Given the description of an element on the screen output the (x, y) to click on. 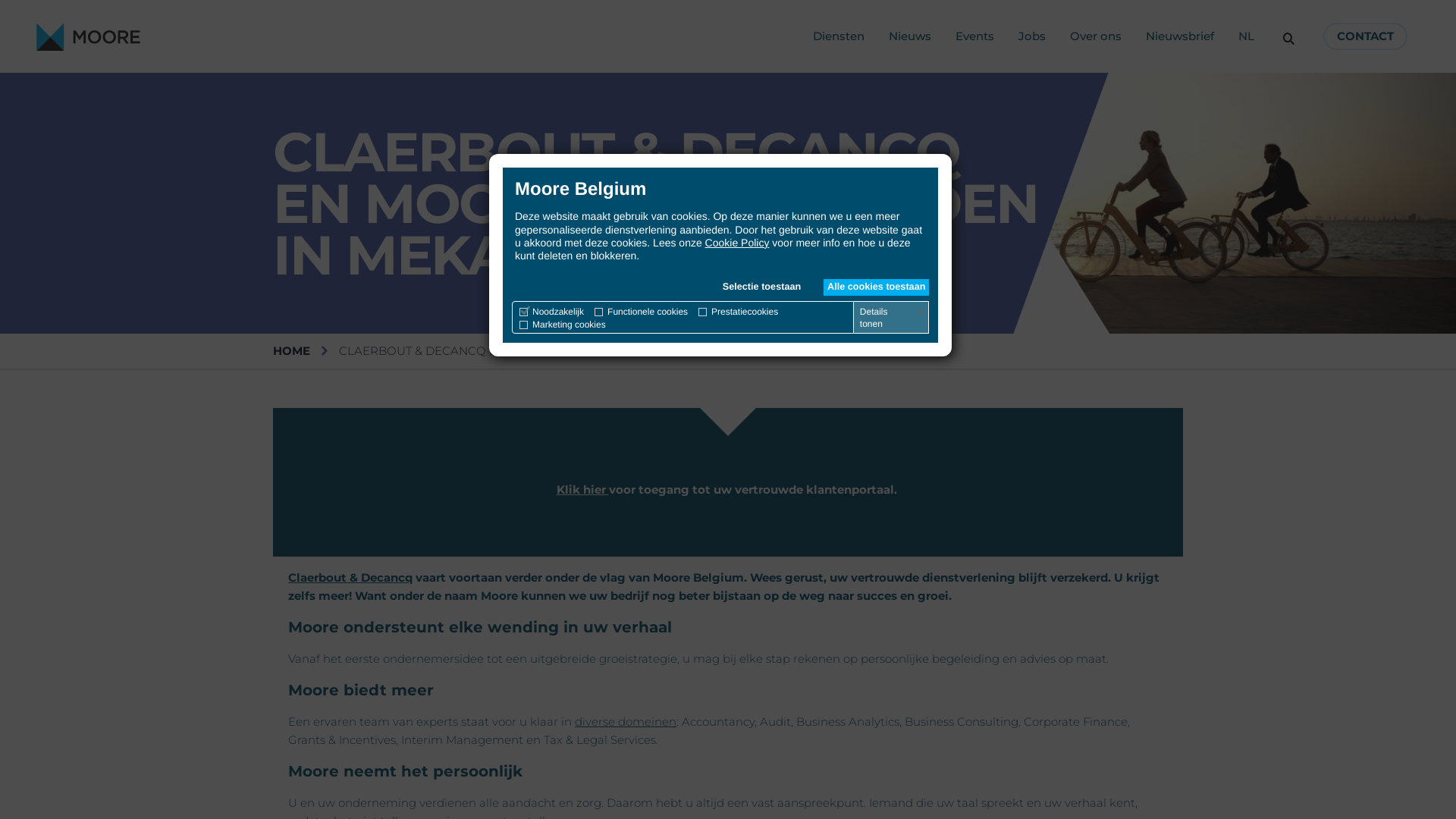
Cookie Policy Element type: text (737, 242)
Nieuwsbrief Element type: text (1179, 36)
Claerbout & Decancq Element type: text (350, 577)
Selectie toestaan Element type: text (761, 287)
Diensten Element type: text (838, 36)
Jobs Element type: text (1031, 36)
Over ons Element type: text (1095, 36)
NL Element type: text (1246, 36)
Details tonen Element type: text (892, 317)
Nieuws Element type: text (909, 36)
diverse domeinen Element type: text (625, 721)
Moore Element type: hover (88, 36)
Events Element type: text (974, 36)
Alle cookies toestaan Element type: text (875, 287)
HOME Element type: text (291, 350)
CONTACT Element type: text (1365, 36)
Overslaan en naar de inhoud gaan Element type: text (0, 0)
Klik hier  Element type: text (582, 489)
